Given the description of an element on the screen output the (x, y) to click on. 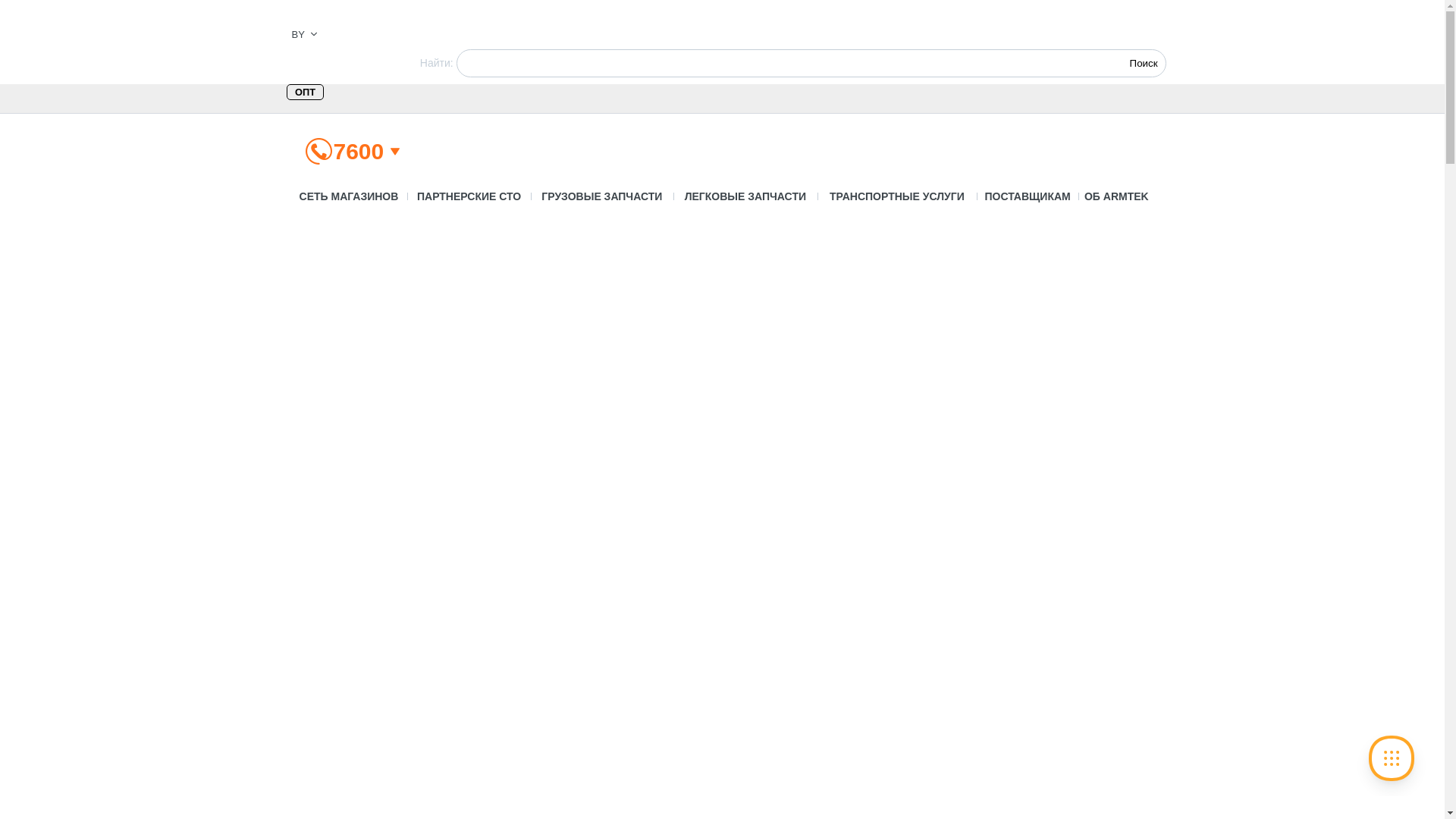
7600 Element type: text (358, 150)
